Given the description of an element on the screen output the (x, y) to click on. 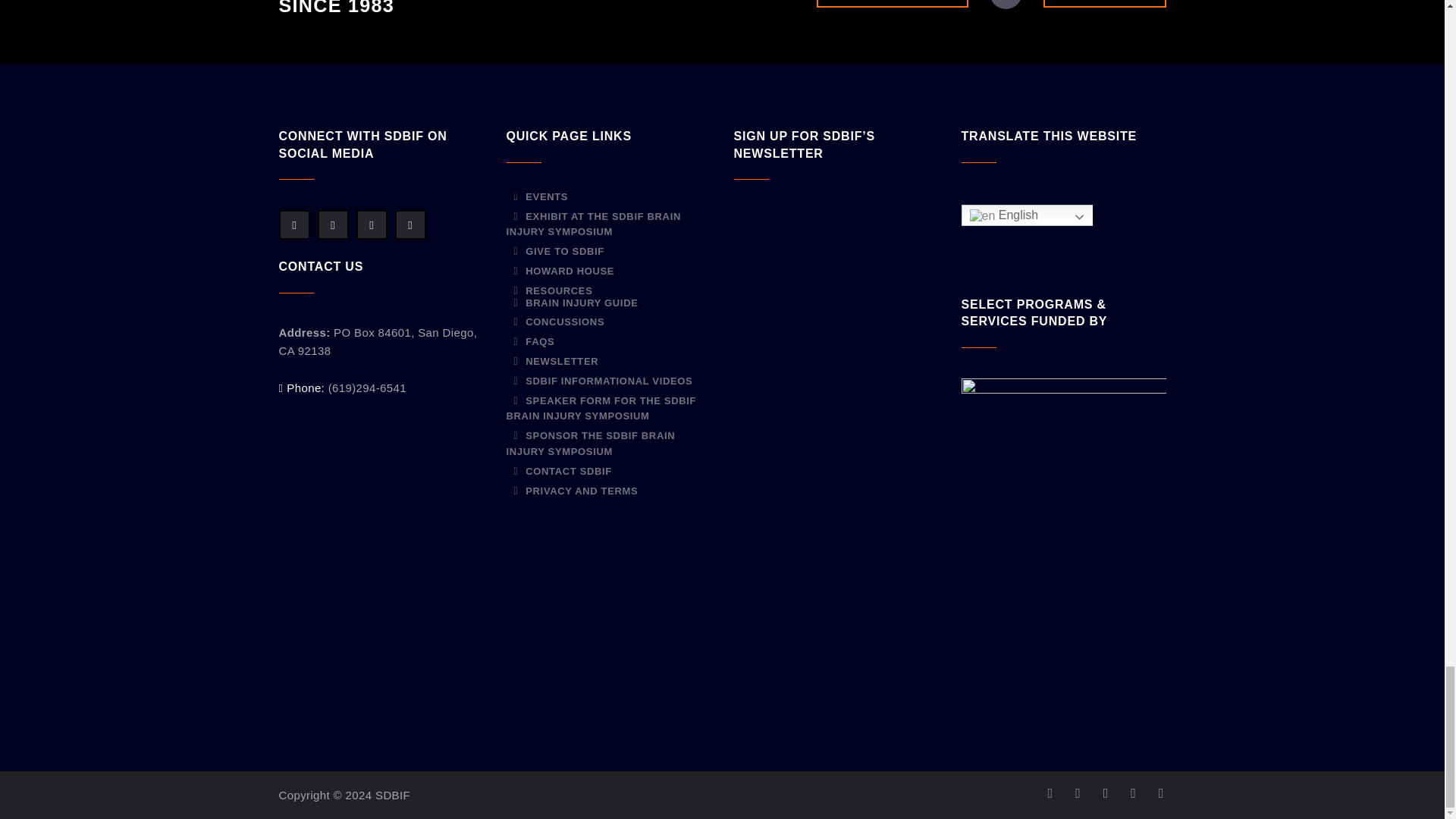
Form 0 (836, 467)
